Given the description of an element on the screen output the (x, y) to click on. 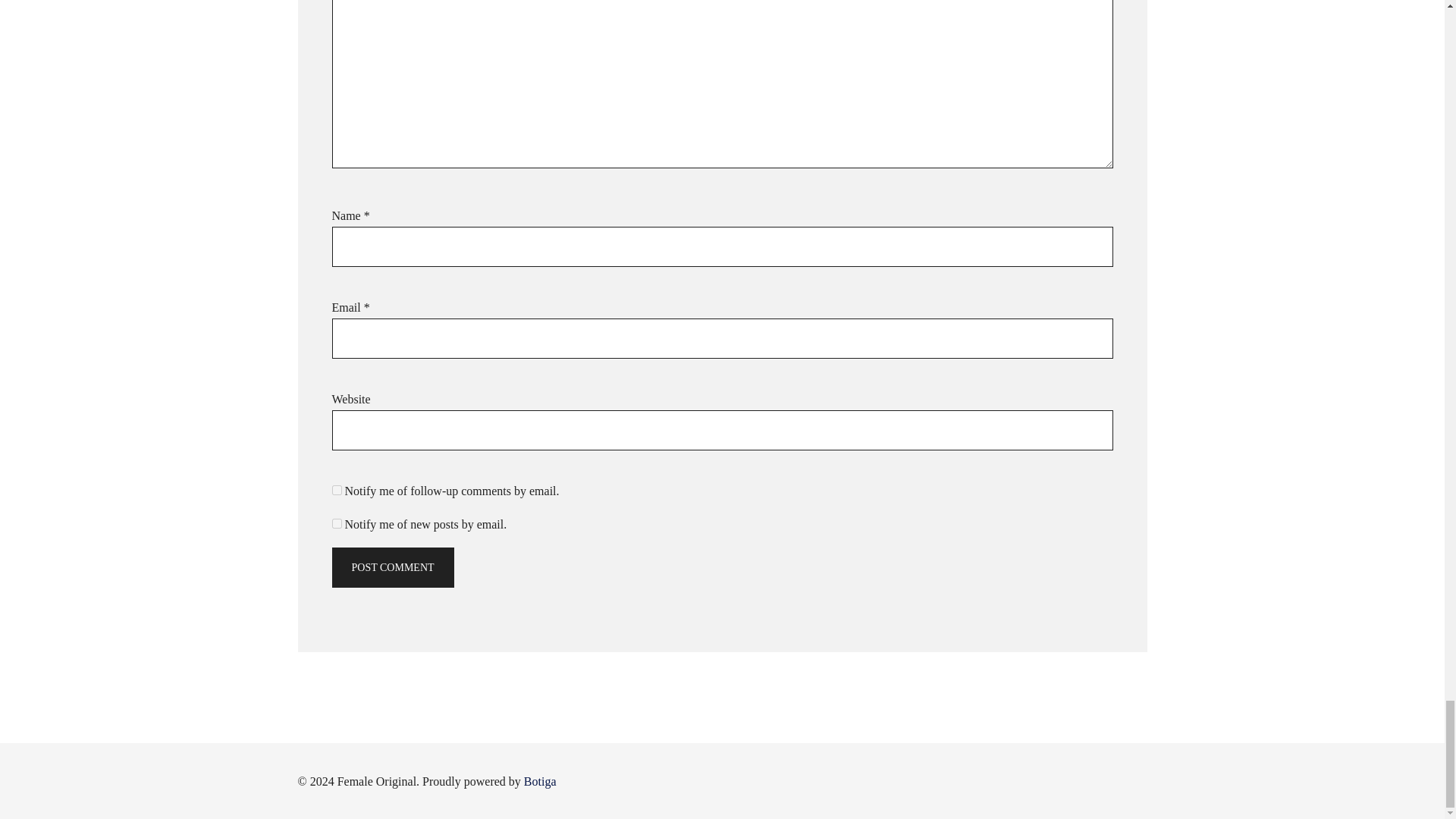
Post Comment (392, 567)
subscribe (336, 523)
subscribe (336, 490)
